Given the description of an element on the screen output the (x, y) to click on. 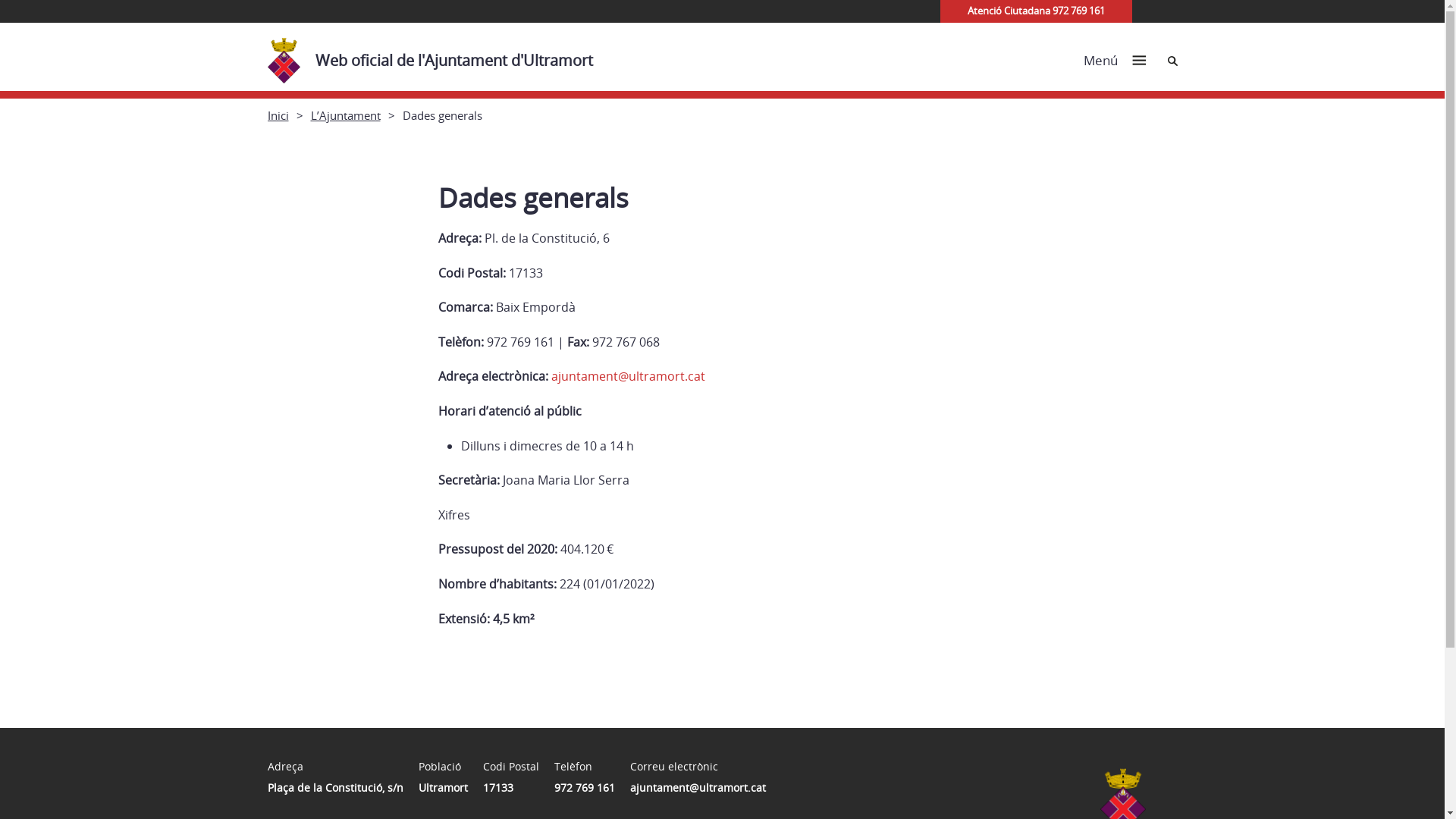
Web oficial de l'Ajuntament d'Ultramort Element type: text (436, 56)
ajuntament@ultramort.cat Element type: text (697, 787)
Inici Element type: text (277, 114)
Cerca Element type: text (1172, 60)
972 769 161 Element type: text (583, 787)
ajuntament@ultramort.cat Element type: text (627, 375)
